Given the description of an element on the screen output the (x, y) to click on. 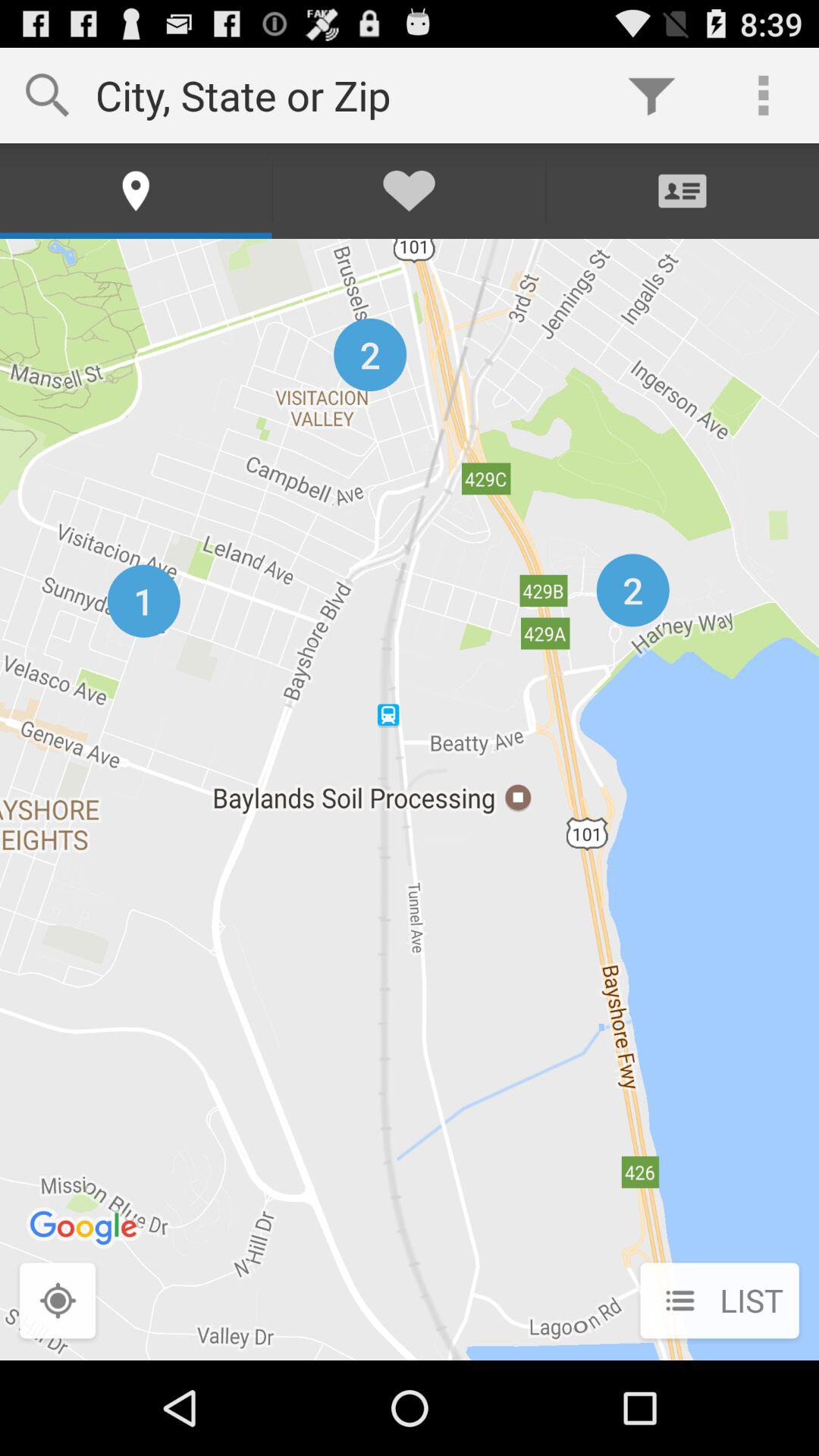
tap the item next to the city state or item (651, 95)
